Given the description of an element on the screen output the (x, y) to click on. 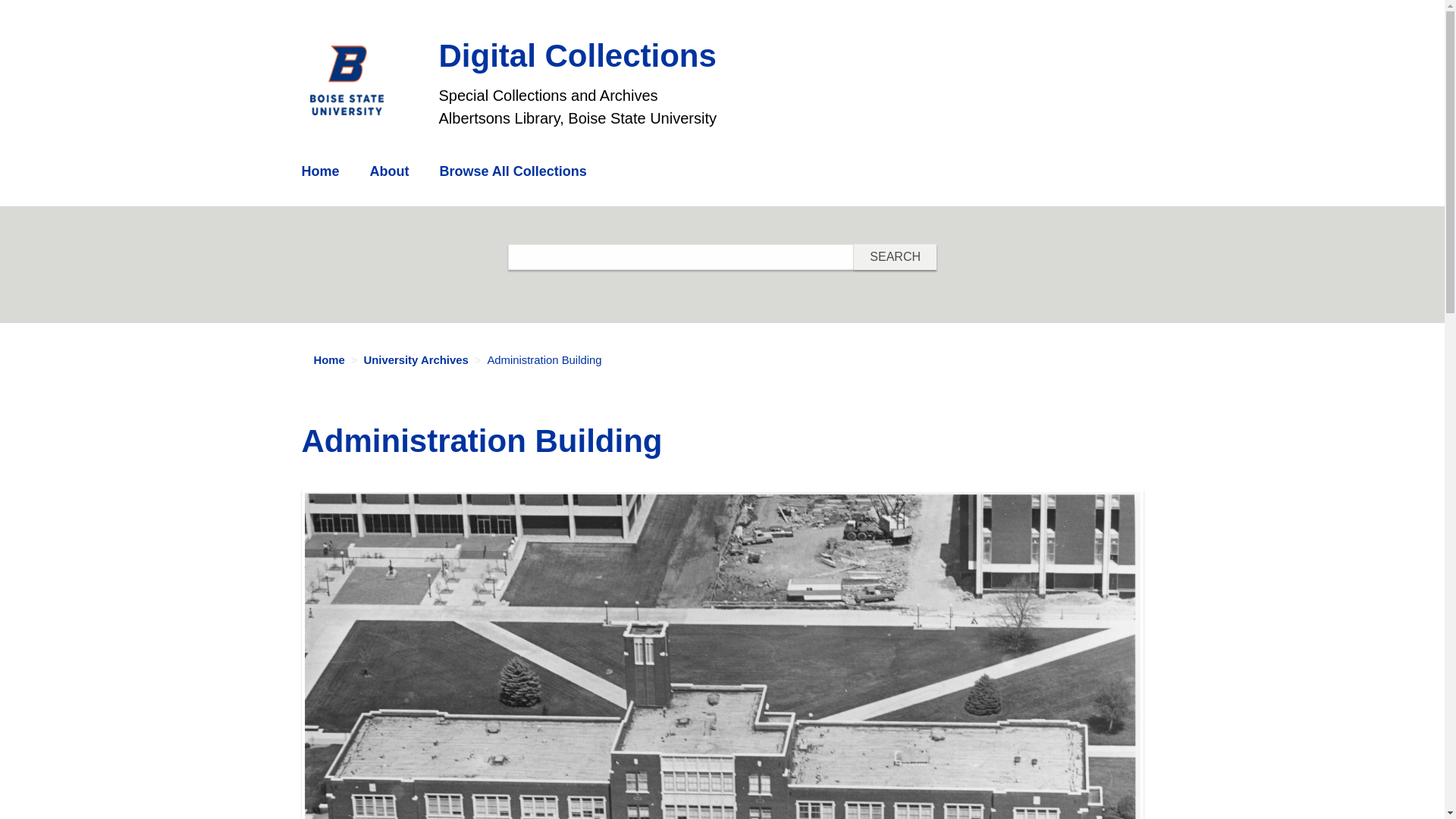
SEARCH (894, 257)
Digital Collections (577, 55)
About (390, 171)
Home (320, 171)
University Archives (414, 359)
Home (363, 79)
Browse All Collections (513, 171)
Home (577, 55)
Home (329, 359)
